Given the description of an element on the screen output the (x, y) to click on. 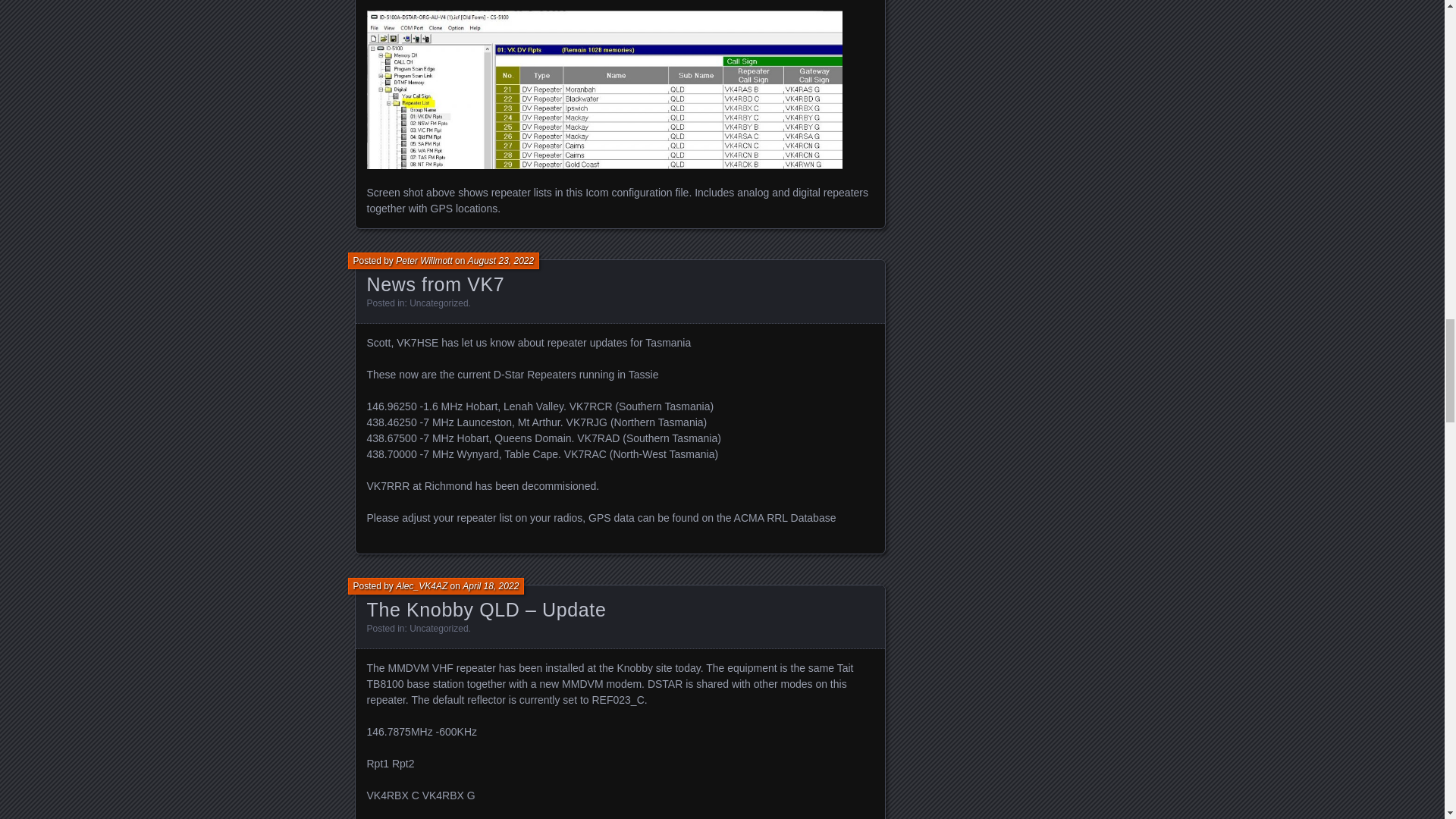
View all posts by Peter Willmott (424, 260)
